Given the description of an element on the screen output the (x, y) to click on. 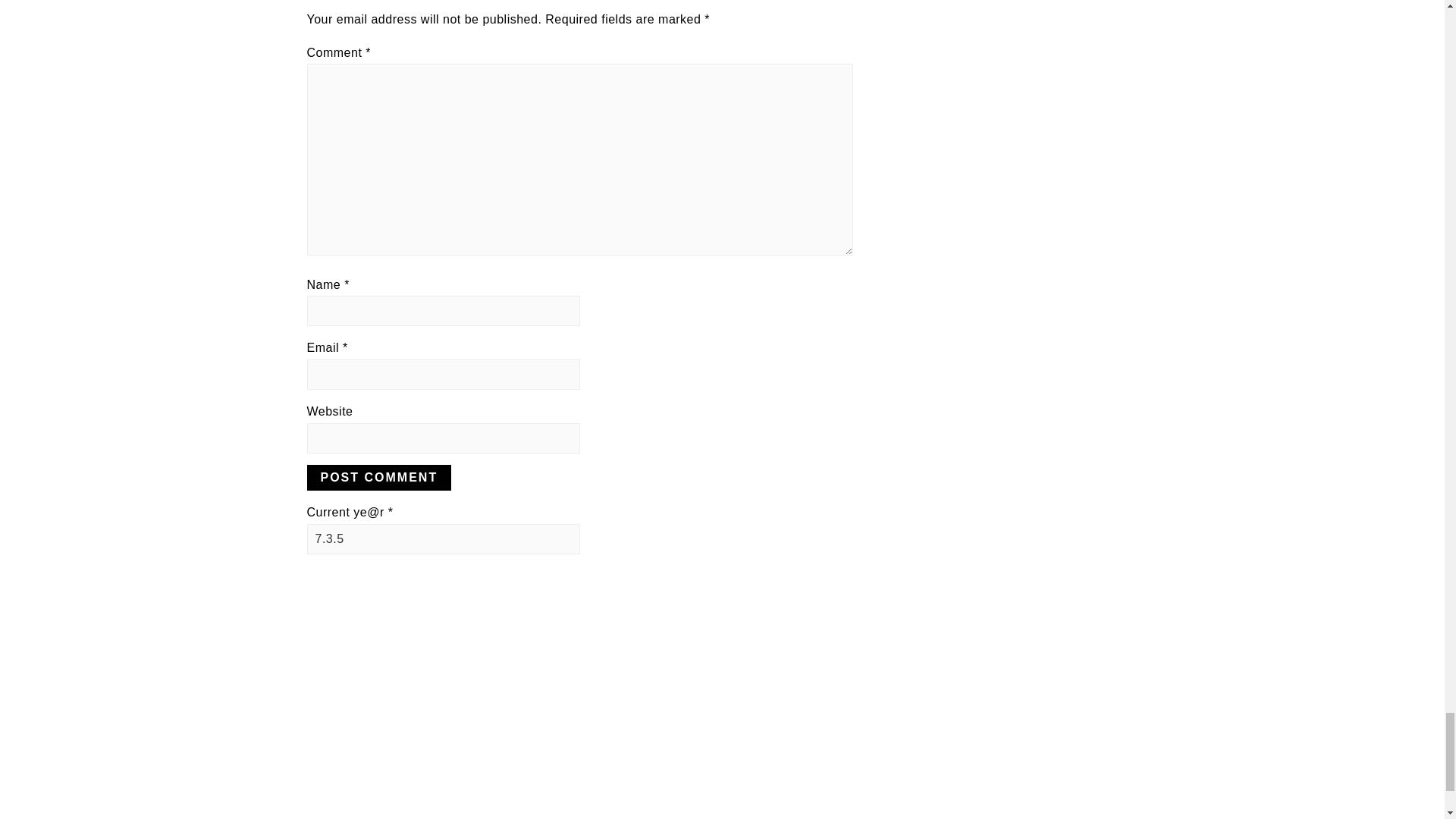
Post Comment (378, 477)
7.3.5 (442, 539)
Post Comment (378, 477)
